Given the description of an element on the screen output the (x, y) to click on. 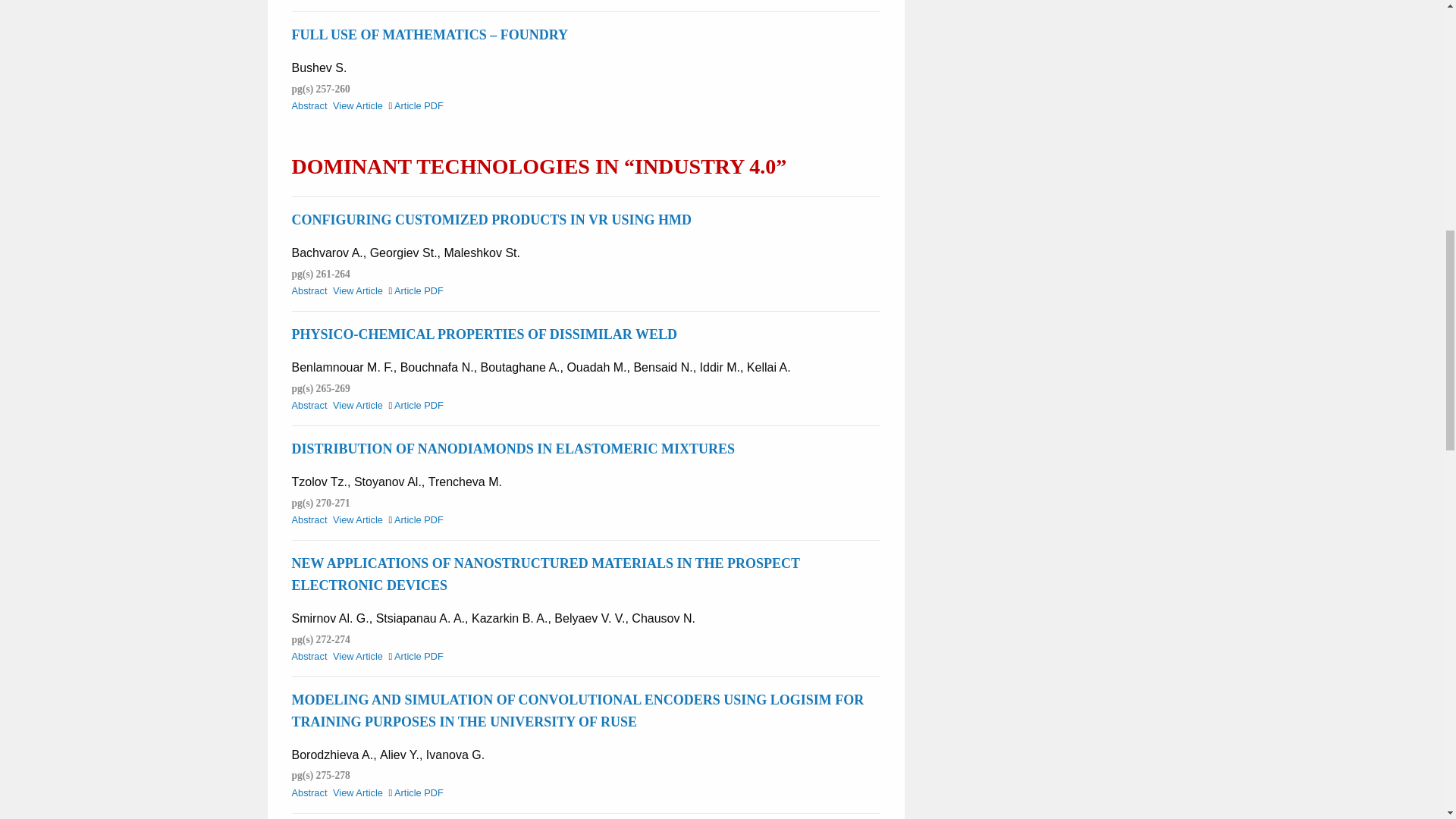
CONFIGURING CUSTOMIZED PRODUCTS IN VR USING HMD (357, 290)
DISTRIBUTION OF NANODIAMONDS IN ELASTOMERIC MIXTURES (357, 519)
DISTRIBUTION OF NANODIAMONDS IN ELASTOMERIC MIXTURES (513, 448)
PHYSICO-CHEMICAL PROPERTIES OF DISSIMILAR WELD (484, 334)
CONFIGURING CUSTOMIZED PRODUCTS IN VR USING HMD (490, 219)
PHYSICO-CHEMICAL PROPERTIES OF DISSIMILAR WELD (357, 405)
